Given the description of an element on the screen output the (x, y) to click on. 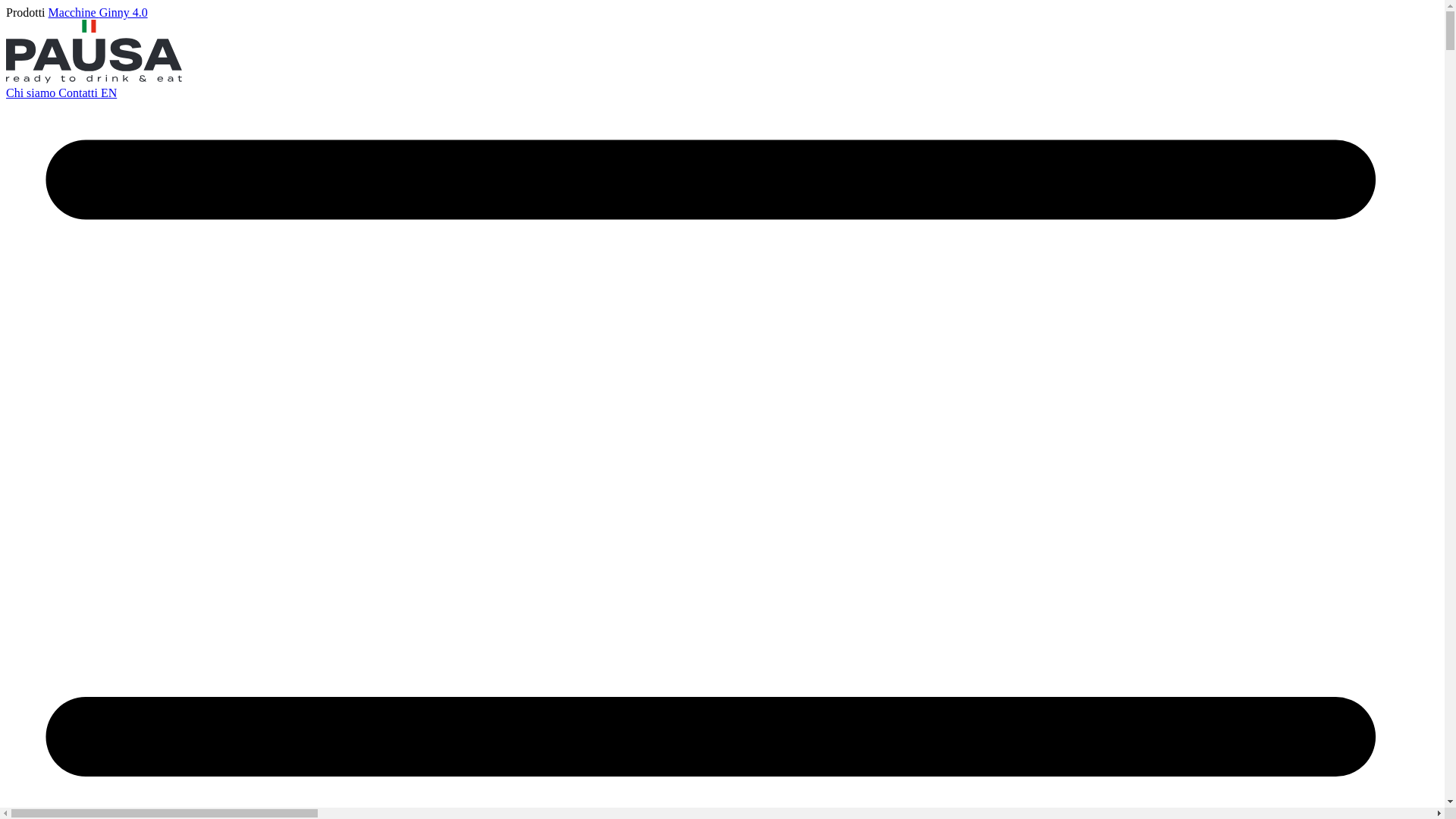
Ginny 4.0 Element type: text (123, 12)
Prodotti Element type: text (27, 12)
EN Element type: text (108, 92)
Contatti Element type: text (79, 92)
Chi siamo Element type: text (32, 92)
Macchine Element type: text (73, 12)
